Given the description of an element on the screen output the (x, y) to click on. 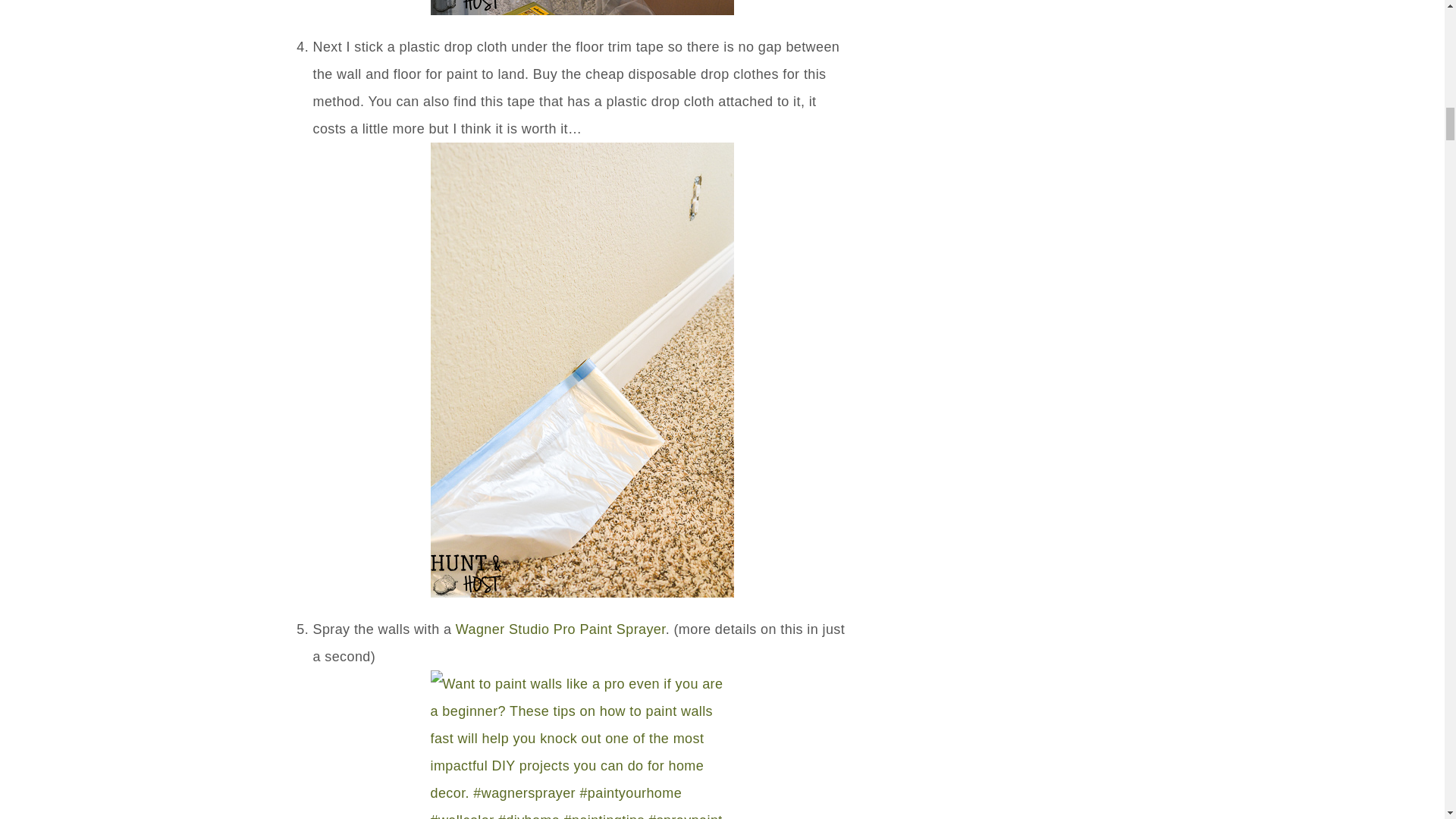
Wagner Studio Pro Paint Sprayer (560, 629)
